Given the description of an element on the screen output the (x, y) to click on. 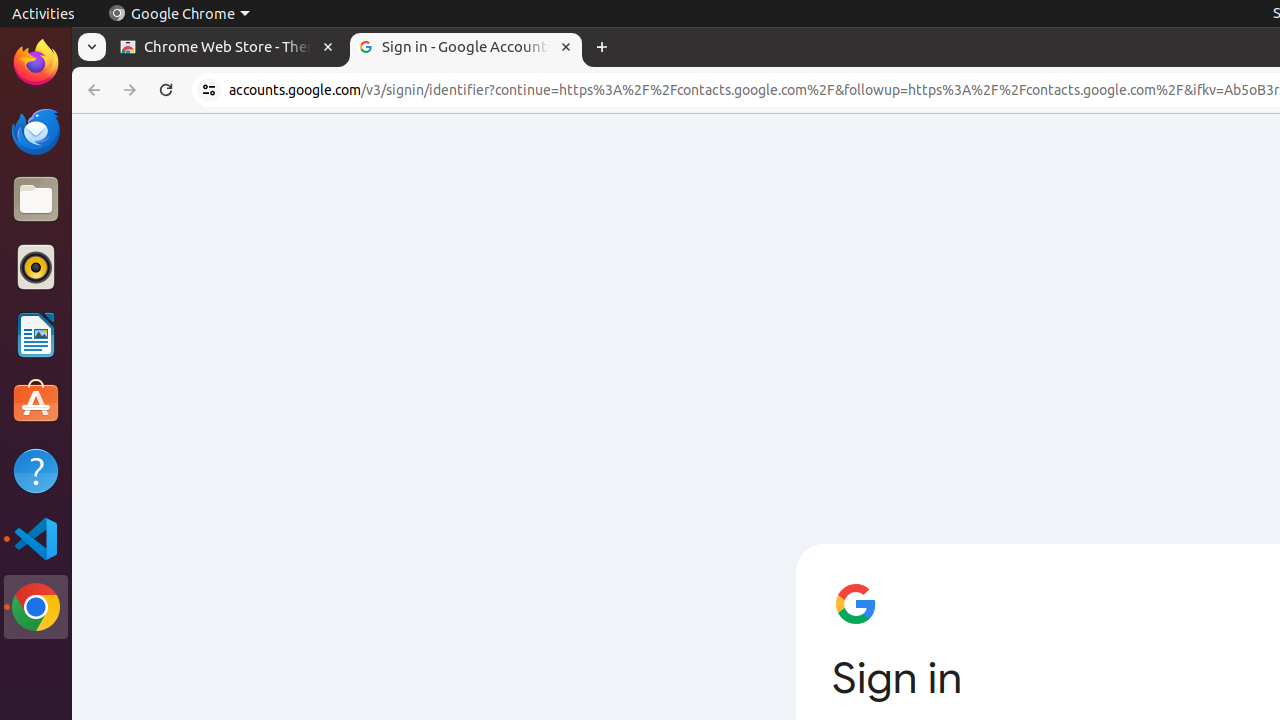
Rhythmbox Element type: push-button (36, 267)
Firefox Web Browser Element type: push-button (36, 63)
Google Chrome Element type: push-button (36, 607)
New Tab Element type: push-button (602, 47)
Forward Element type: push-button (130, 90)
